Given the description of an element on the screen output the (x, y) to click on. 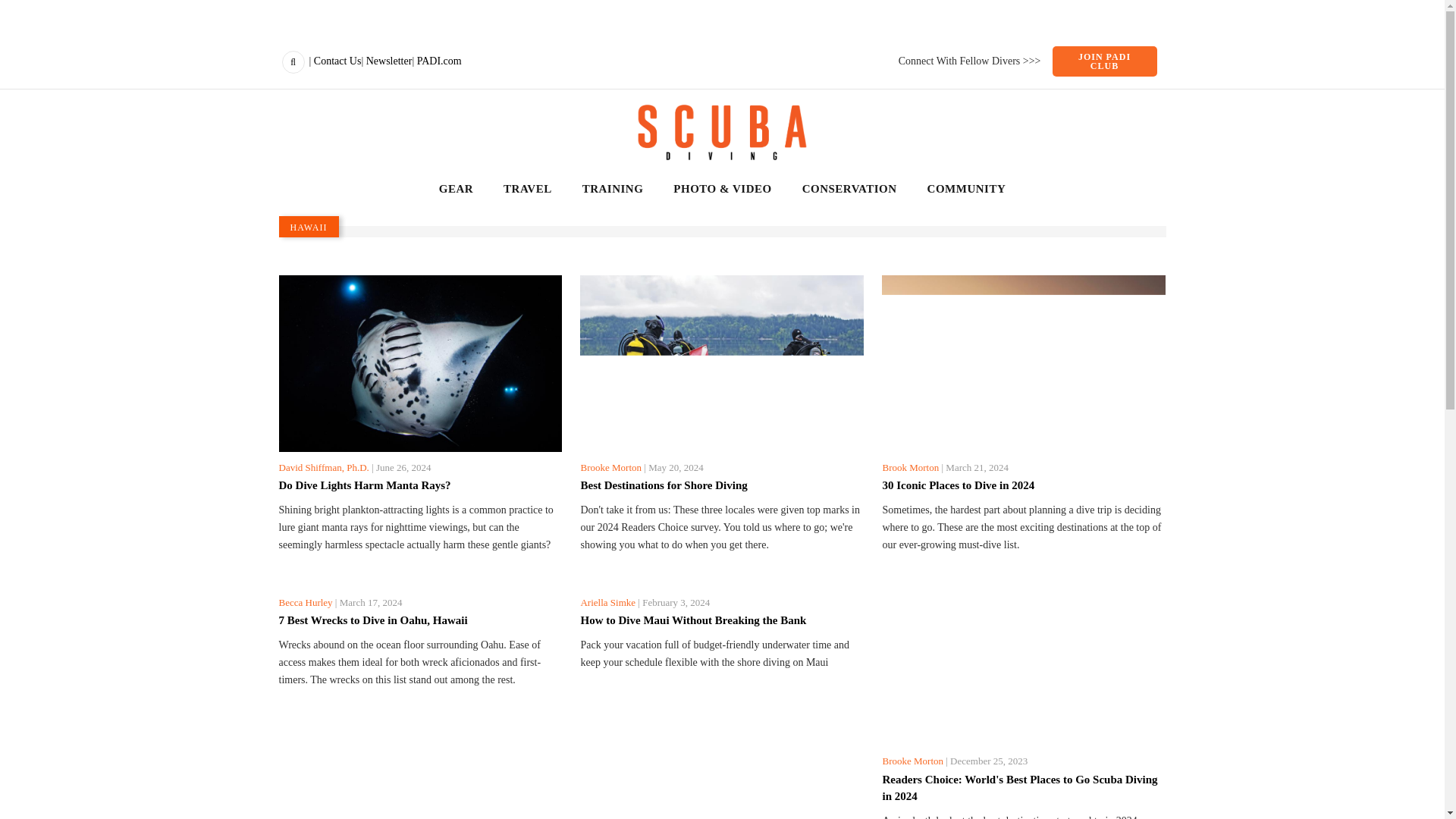
TRAINING (612, 189)
COMMUNITY (966, 189)
Becca Hurley (306, 601)
Brooke Morton (912, 760)
Contact Us (337, 60)
Brooke Morton (610, 467)
JOIN PADI CLUB (1104, 60)
Do Dive Lights Harm Manta Rays? (420, 484)
GEAR (456, 189)
